Given the description of an element on the screen output the (x, y) to click on. 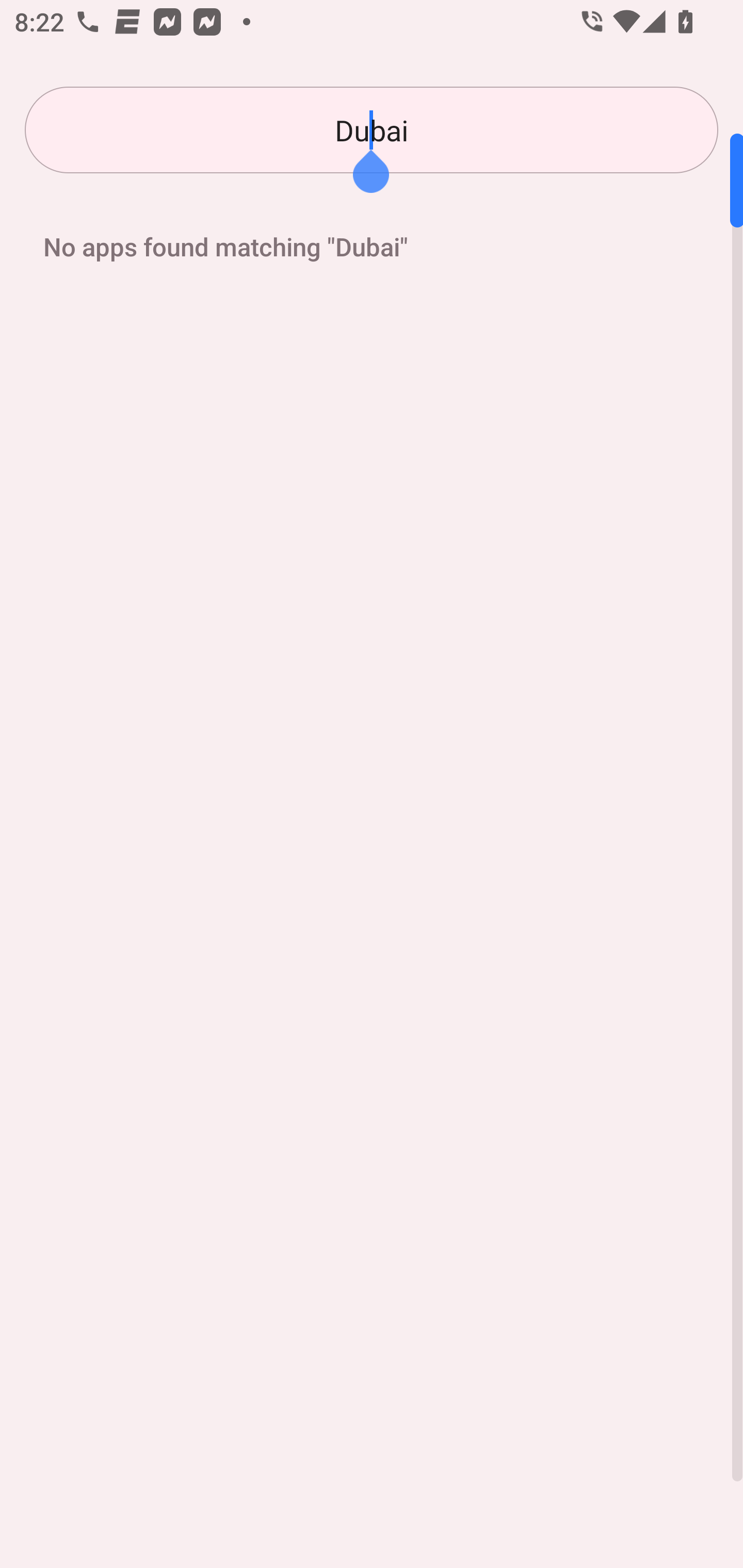
Dubai (371, 130)
